Given the description of an element on the screen output the (x, y) to click on. 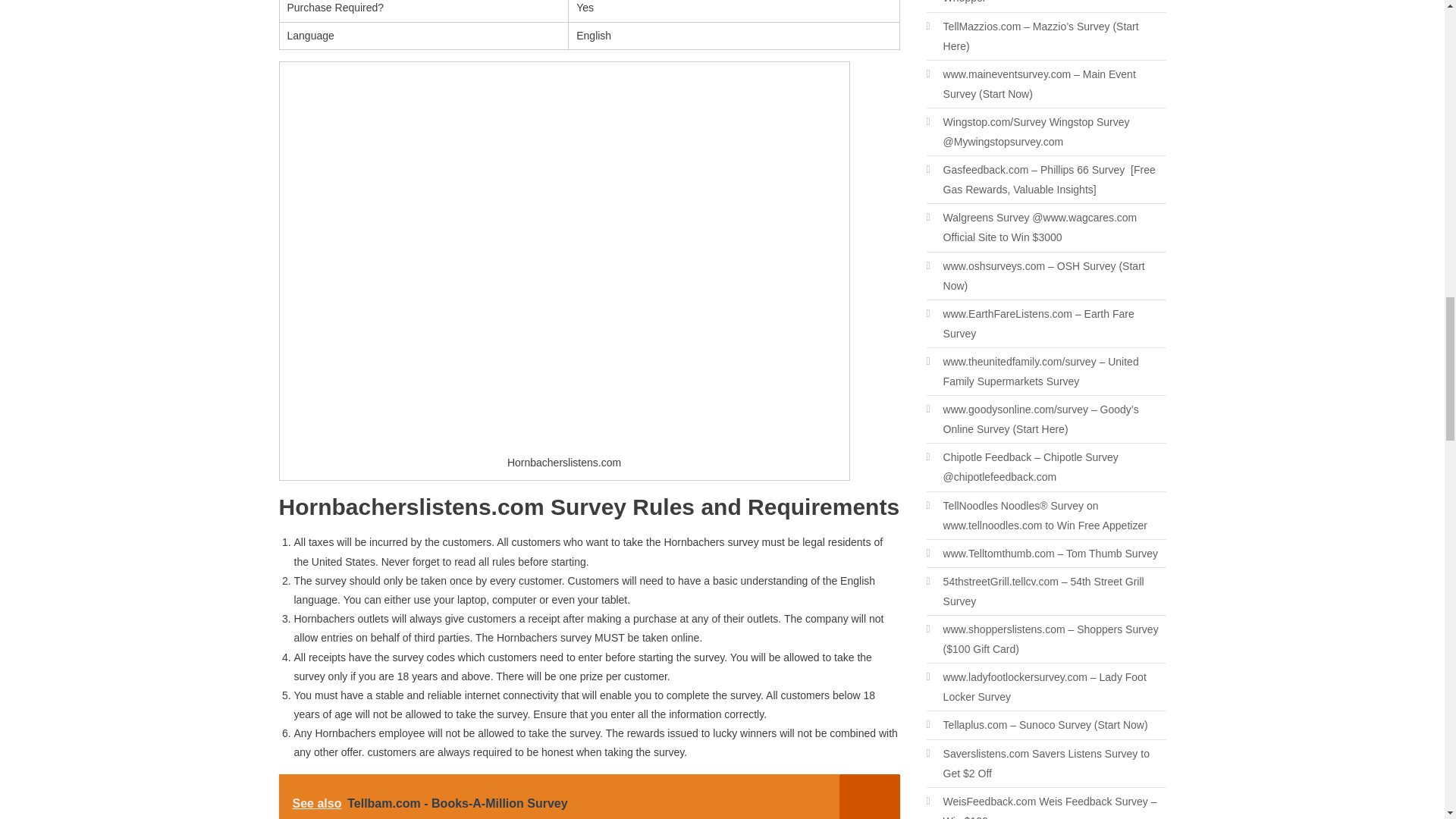
See also  Tellbam.com - Books-A-Million Survey (589, 796)
